Given the description of an element on the screen output the (x, y) to click on. 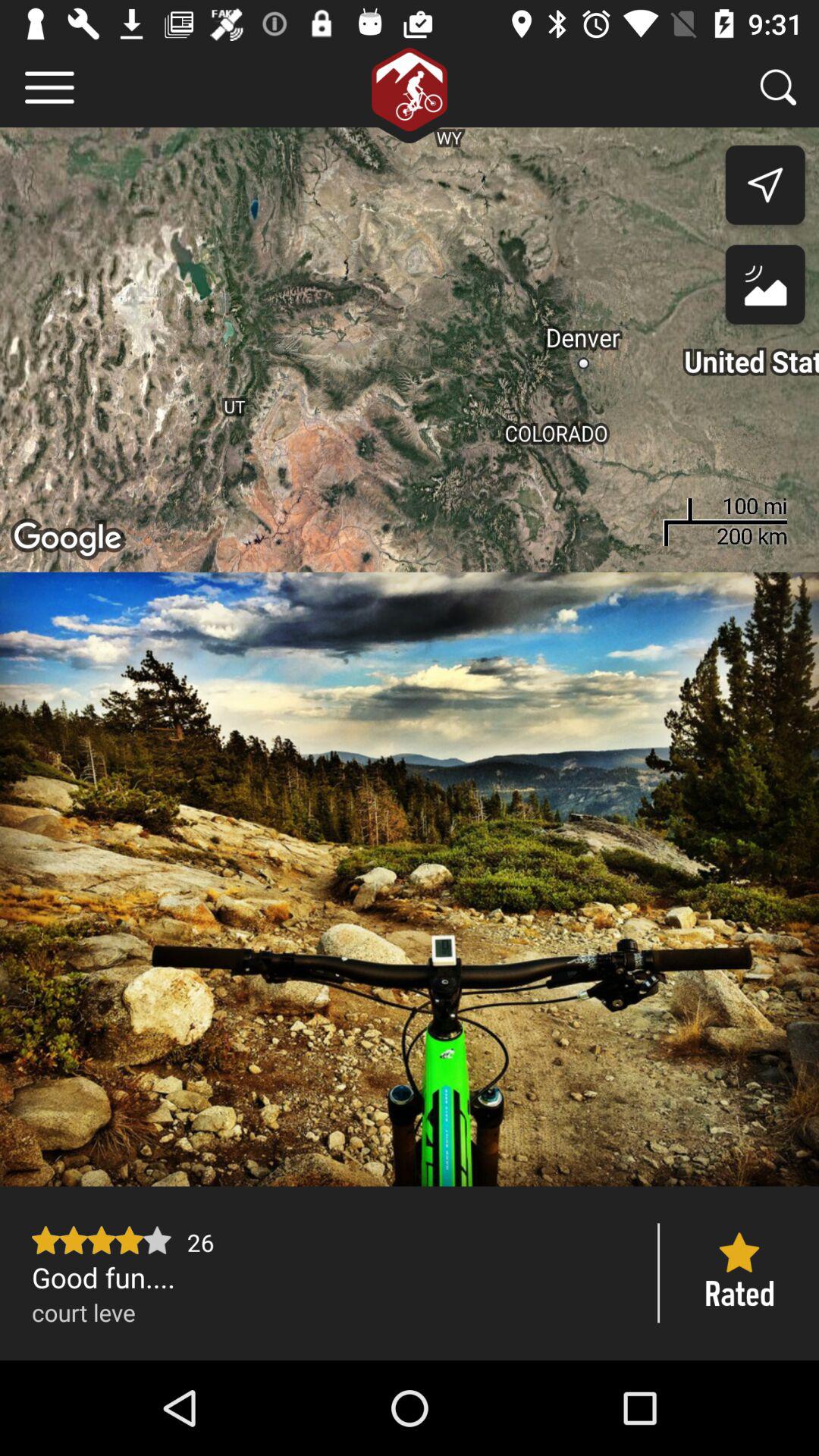
choose icon below the 26 item (329, 1277)
